Given the description of an element on the screen output the (x, y) to click on. 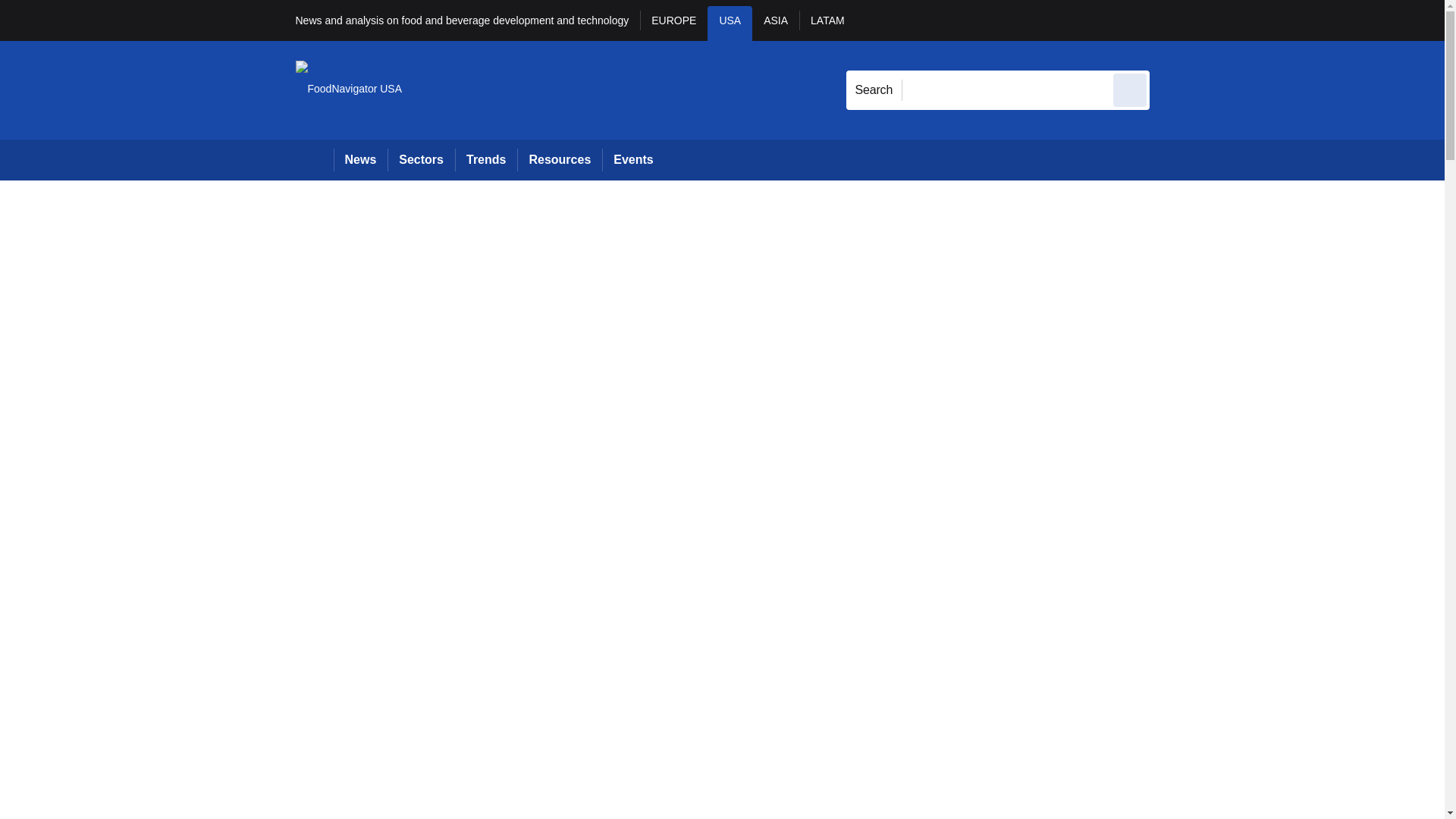
ASIA (775, 22)
Sectors (420, 159)
FoodNavigator USA (349, 89)
LATAM (827, 22)
News (360, 159)
USA (729, 22)
REGISTER (1250, 20)
Sign out (1174, 20)
Home (314, 159)
EUROPE (673, 22)
